Given the description of an element on the screen output the (x, y) to click on. 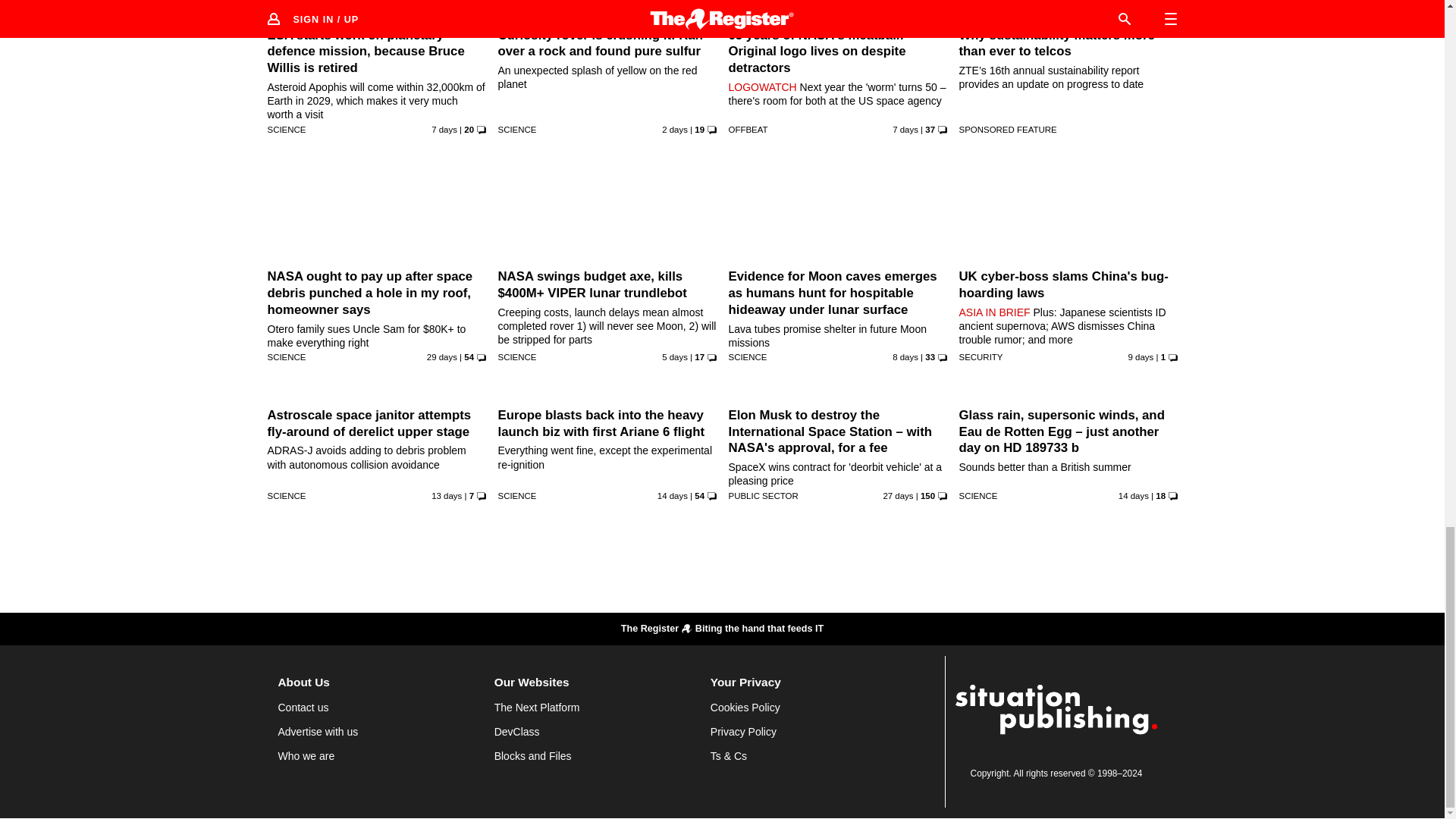
17 Jul 2024 6:32 (443, 129)
22 Jul 2024 5:30 (674, 129)
16 Jul 2024 17:29 (905, 129)
